Given the description of an element on the screen output the (x, y) to click on. 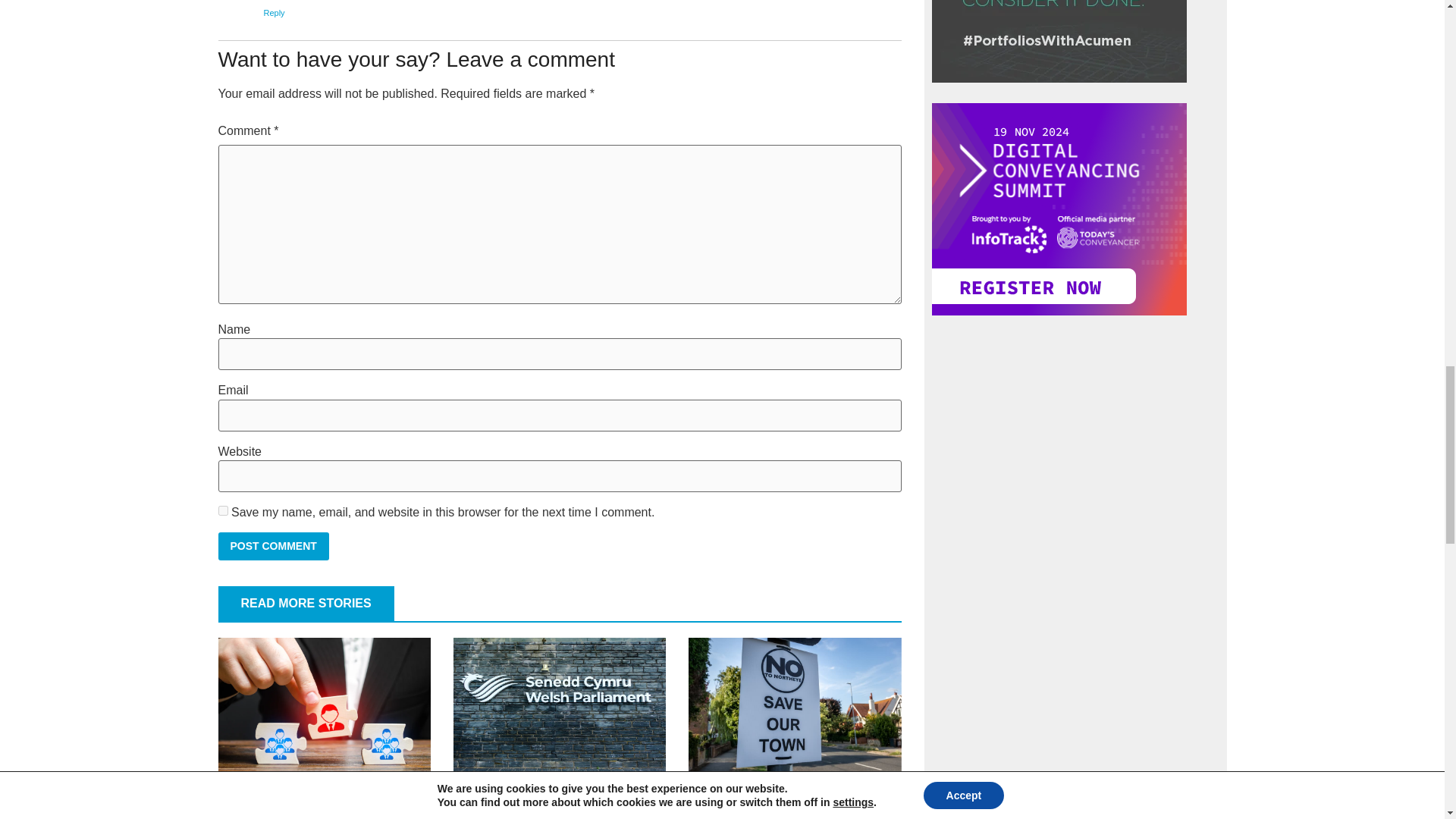
yes (223, 510)
Post Comment (273, 546)
